Given the description of an element on the screen output the (x, y) to click on. 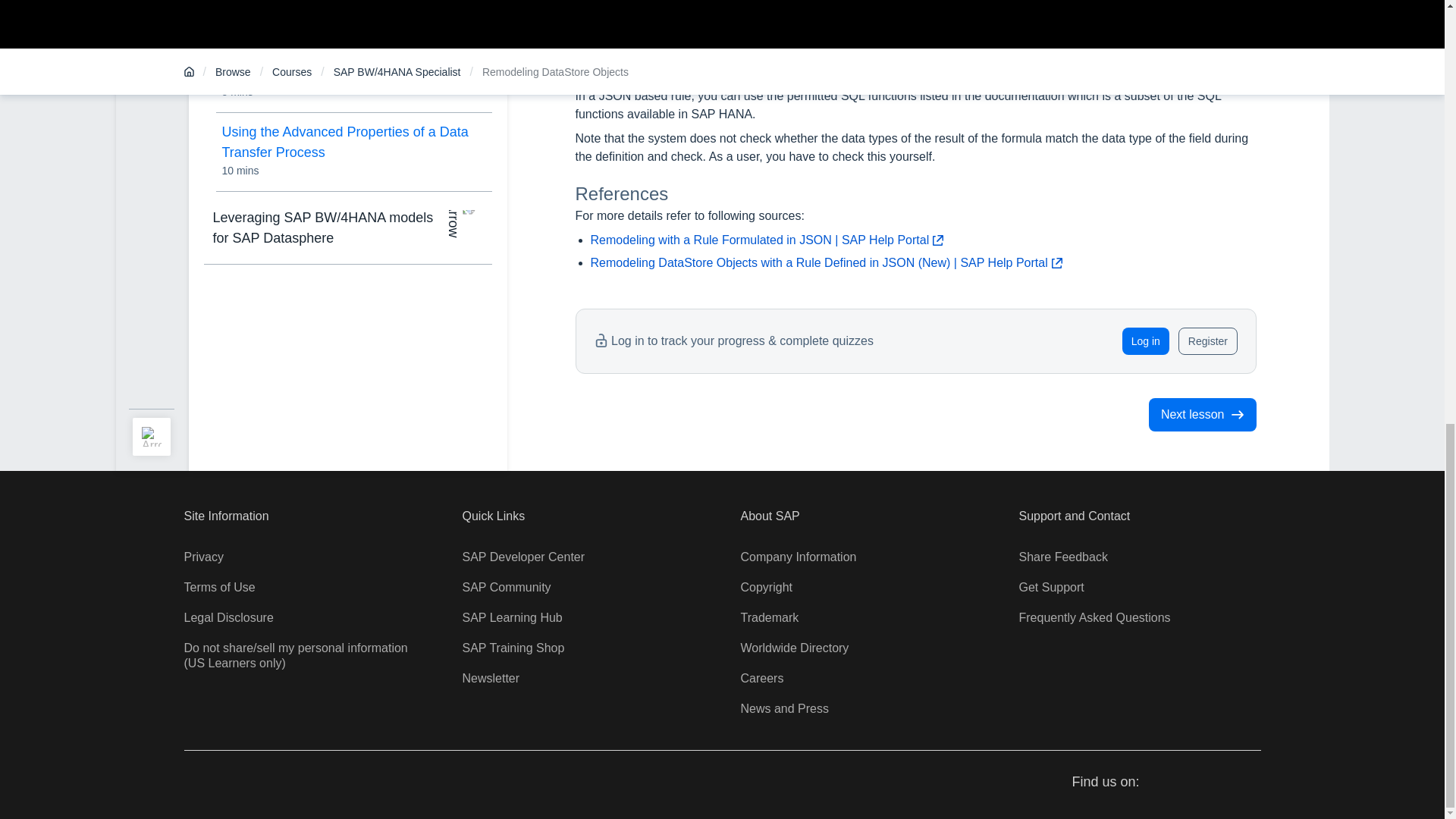
SAP Developer Center (524, 556)
SAP Learning Hub (512, 617)
Terms of Use (218, 586)
Visit home page (207, 784)
SAP Youtube (1220, 782)
Trademark (768, 617)
Log in (1145, 340)
Copyright (765, 586)
Careers (761, 677)
Register (1206, 340)
